Given the description of an element on the screen output the (x, y) to click on. 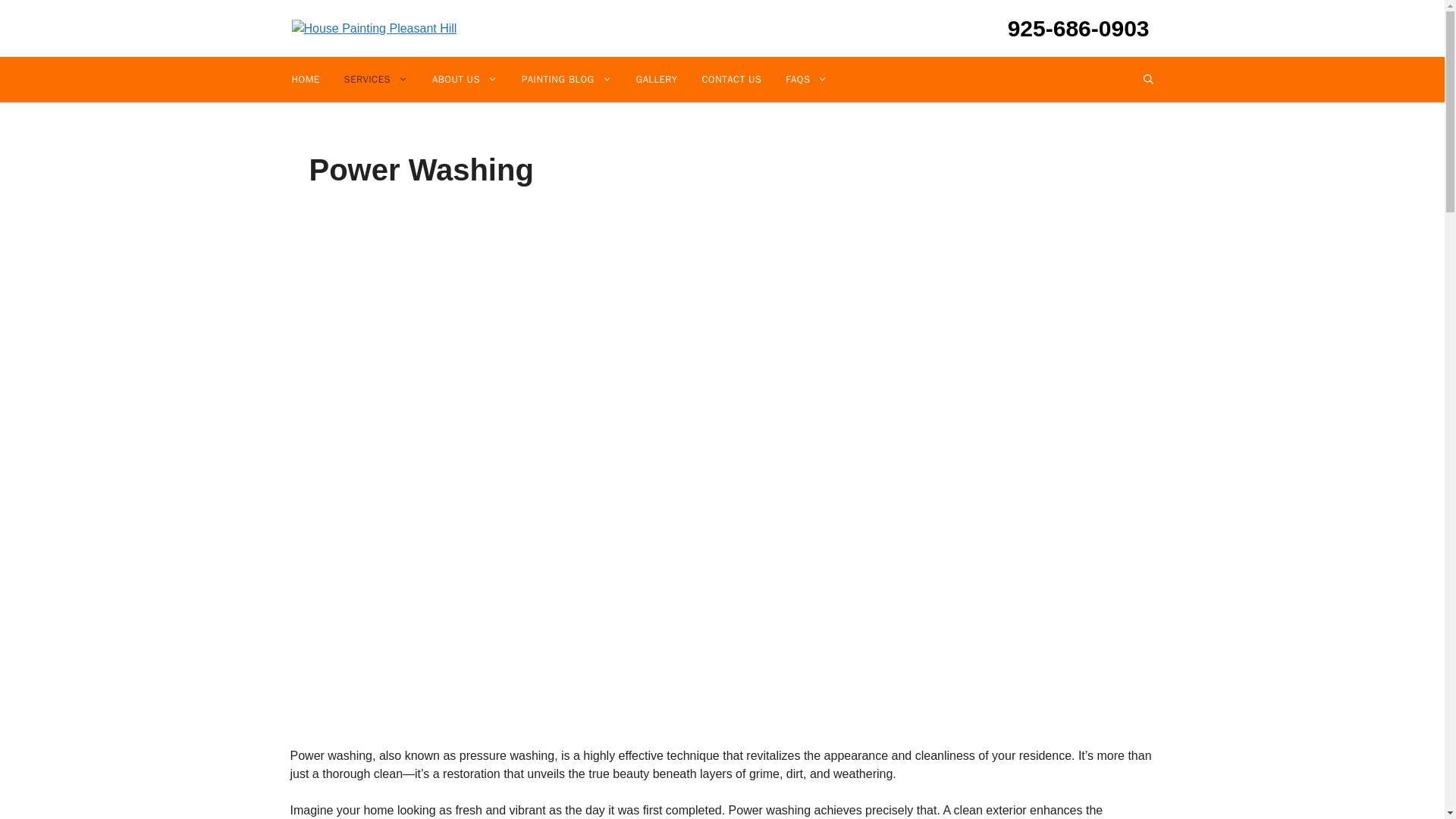
SERVICES (375, 79)
HOME (305, 79)
925-686-0903 (1059, 28)
